Given the description of an element on the screen output the (x, y) to click on. 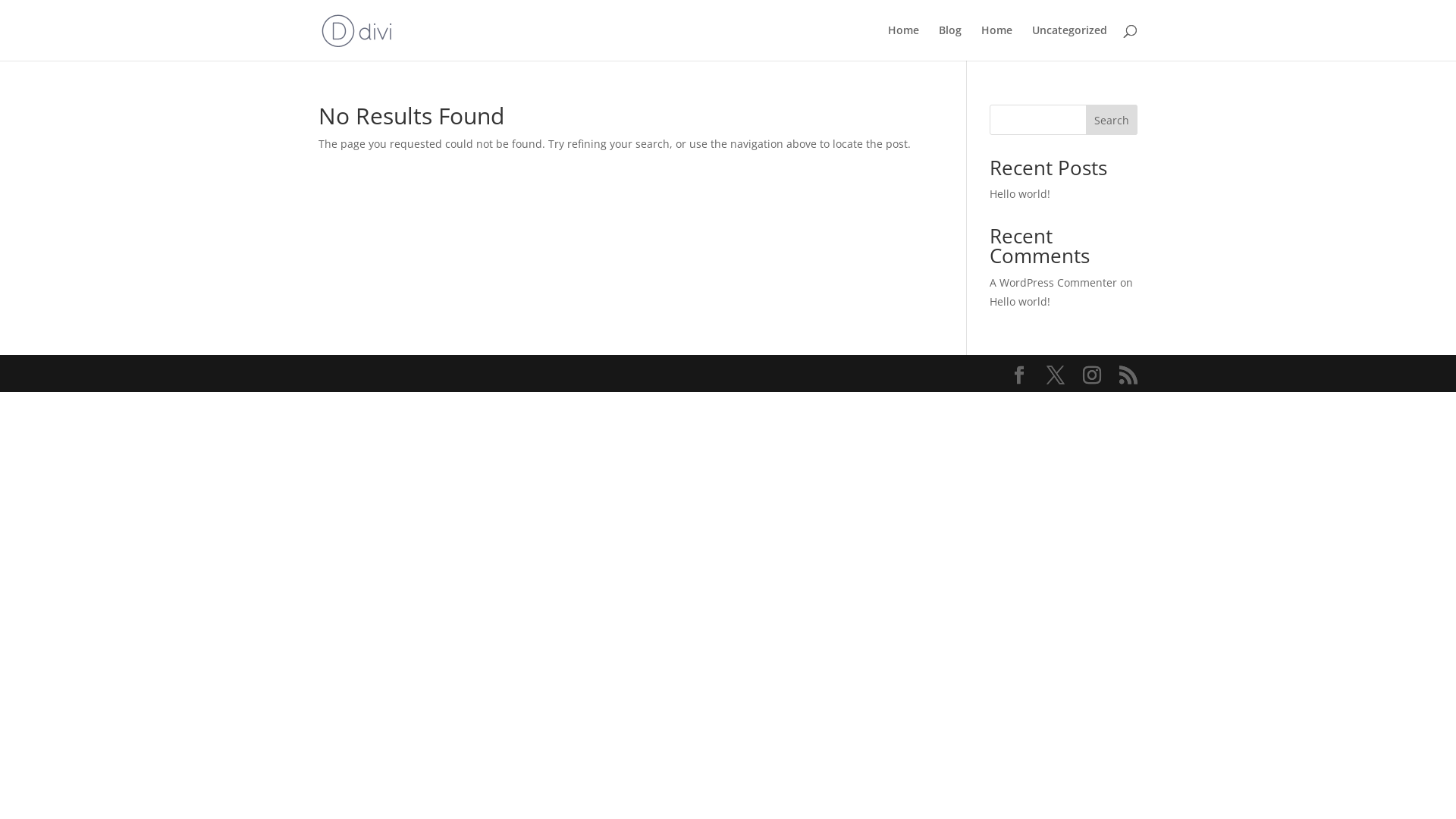
Blog Element type: text (949, 42)
Search Element type: text (1111, 119)
Uncategorized Element type: text (1069, 42)
A WordPress Commenter Element type: text (1053, 282)
Home Element type: text (903, 42)
Home Element type: text (996, 42)
Hello world! Element type: text (1019, 193)
Hello world! Element type: text (1019, 301)
